Given the description of an element on the screen output the (x, y) to click on. 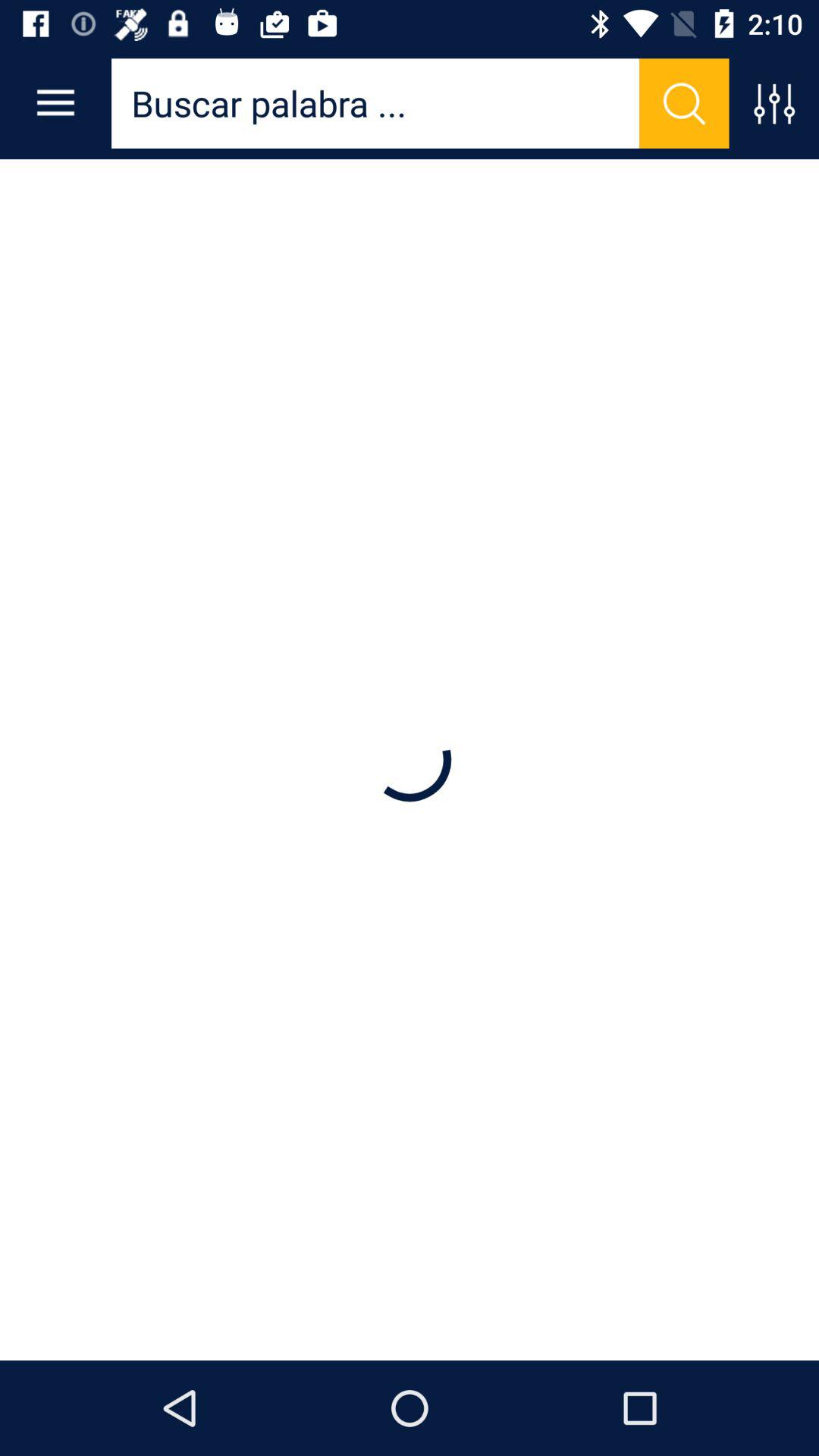
this button controls the sound quality (774, 103)
